Given the description of an element on the screen output the (x, y) to click on. 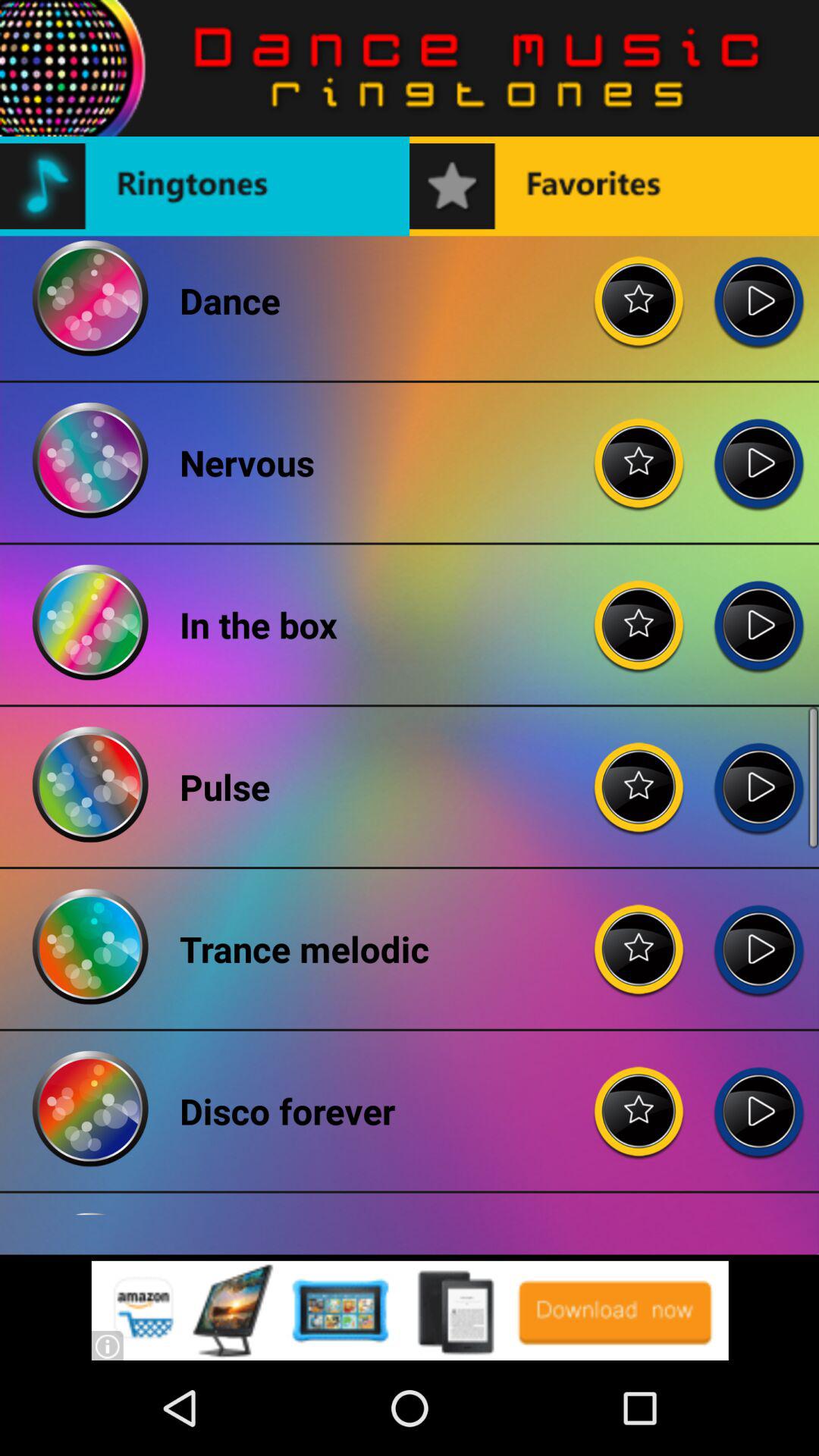
for advertisement (409, 1310)
